Given the description of an element on the screen output the (x, y) to click on. 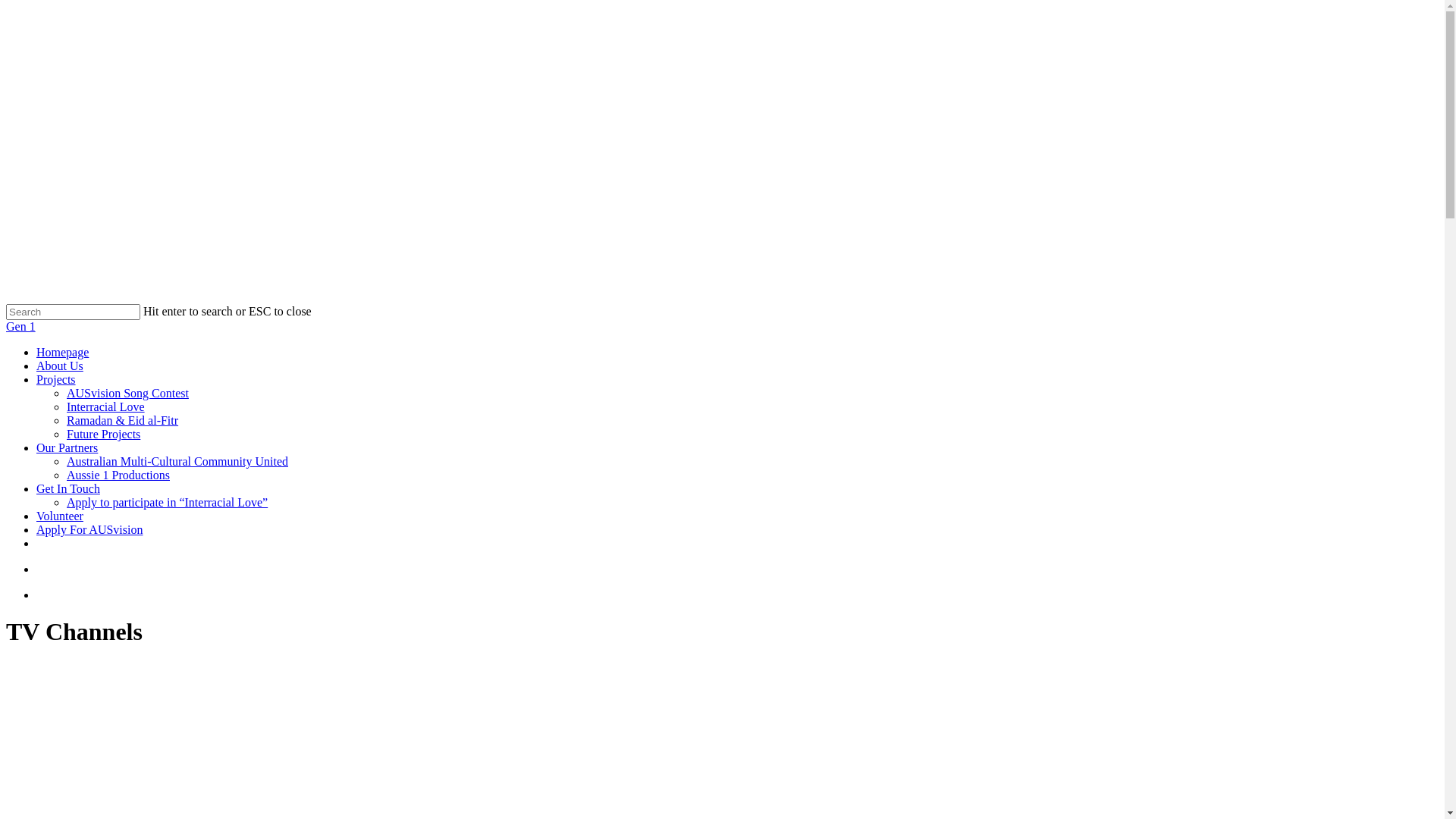
About Us Element type: text (59, 365)
Volunteer Element type: text (59, 515)
Ramadan & Eid al-Fitr Element type: text (122, 420)
Future Projects Element type: text (103, 433)
Our Partners Element type: text (66, 447)
Get In Touch Element type: text (68, 488)
Aussie 1 Productions Element type: text (117, 474)
Homepage Element type: text (62, 351)
Australian Multi-Cultural Community United Element type: text (177, 461)
Apply For AUSvision Element type: text (89, 529)
Gen 1 Element type: text (20, 326)
Interracial Love Element type: text (105, 406)
AUSvision Song Contest Element type: text (127, 392)
Projects Element type: text (55, 379)
